Given the description of an element on the screen output the (x, y) to click on. 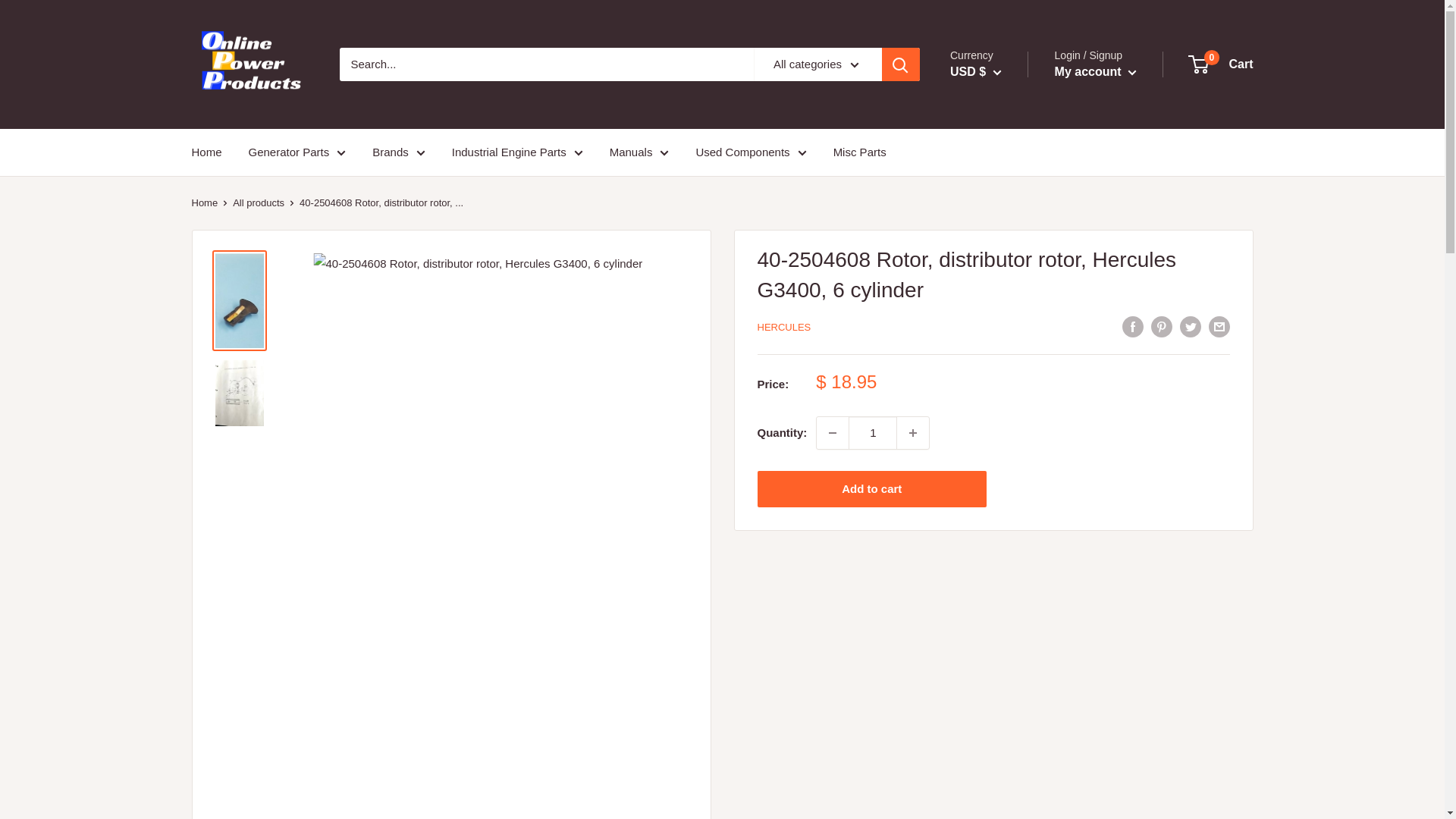
Increase quantity by 1 (912, 432)
1 (872, 432)
Decrease quantity by 1 (832, 432)
